Given the description of an element on the screen output the (x, y) to click on. 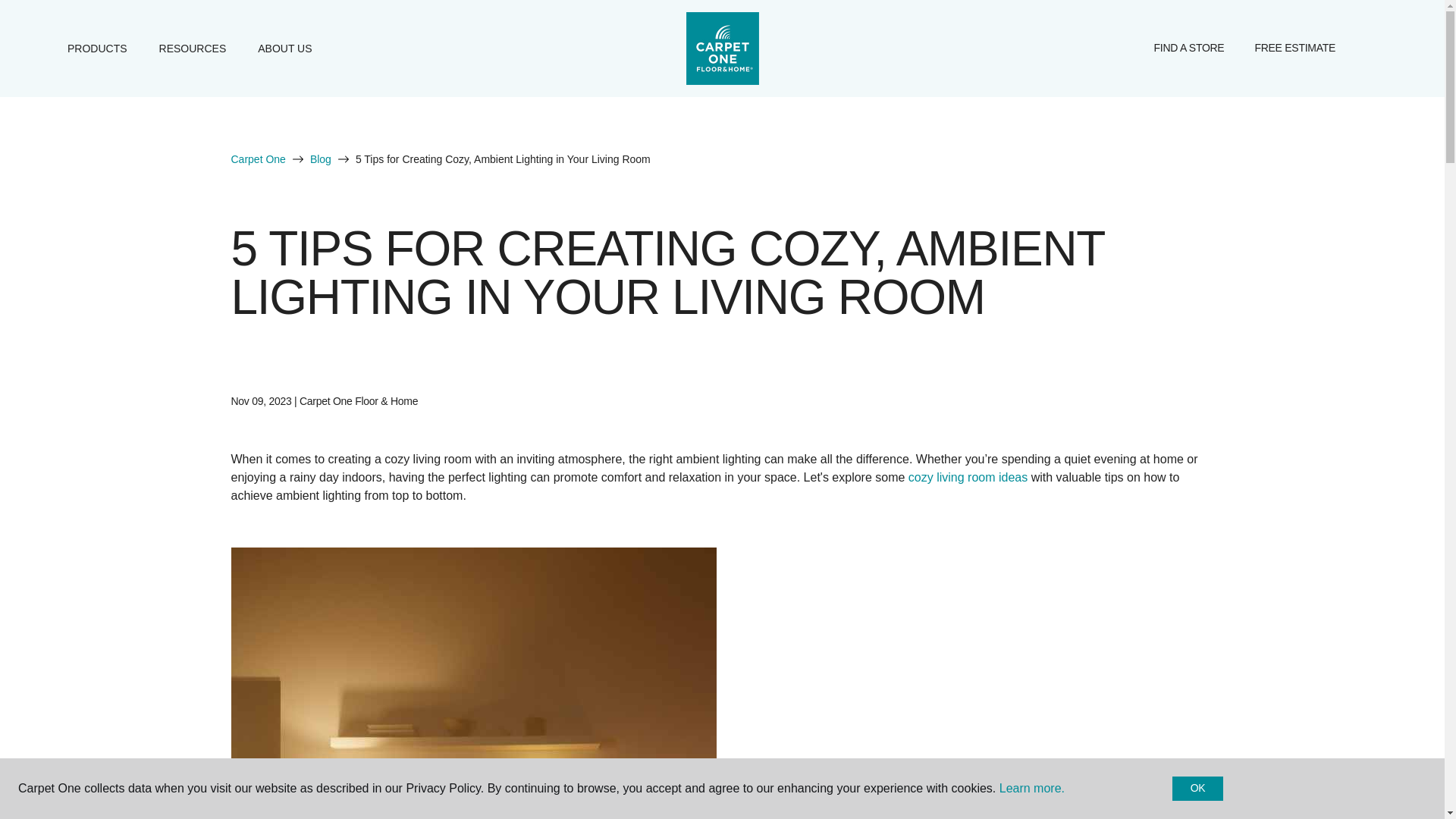
PRODUCTS (97, 48)
RESOURCES (193, 48)
FIND A STORE (1188, 48)
FREE ESTIMATE (1294, 48)
ABOUT US (284, 48)
